Given the description of an element on the screen output the (x, y) to click on. 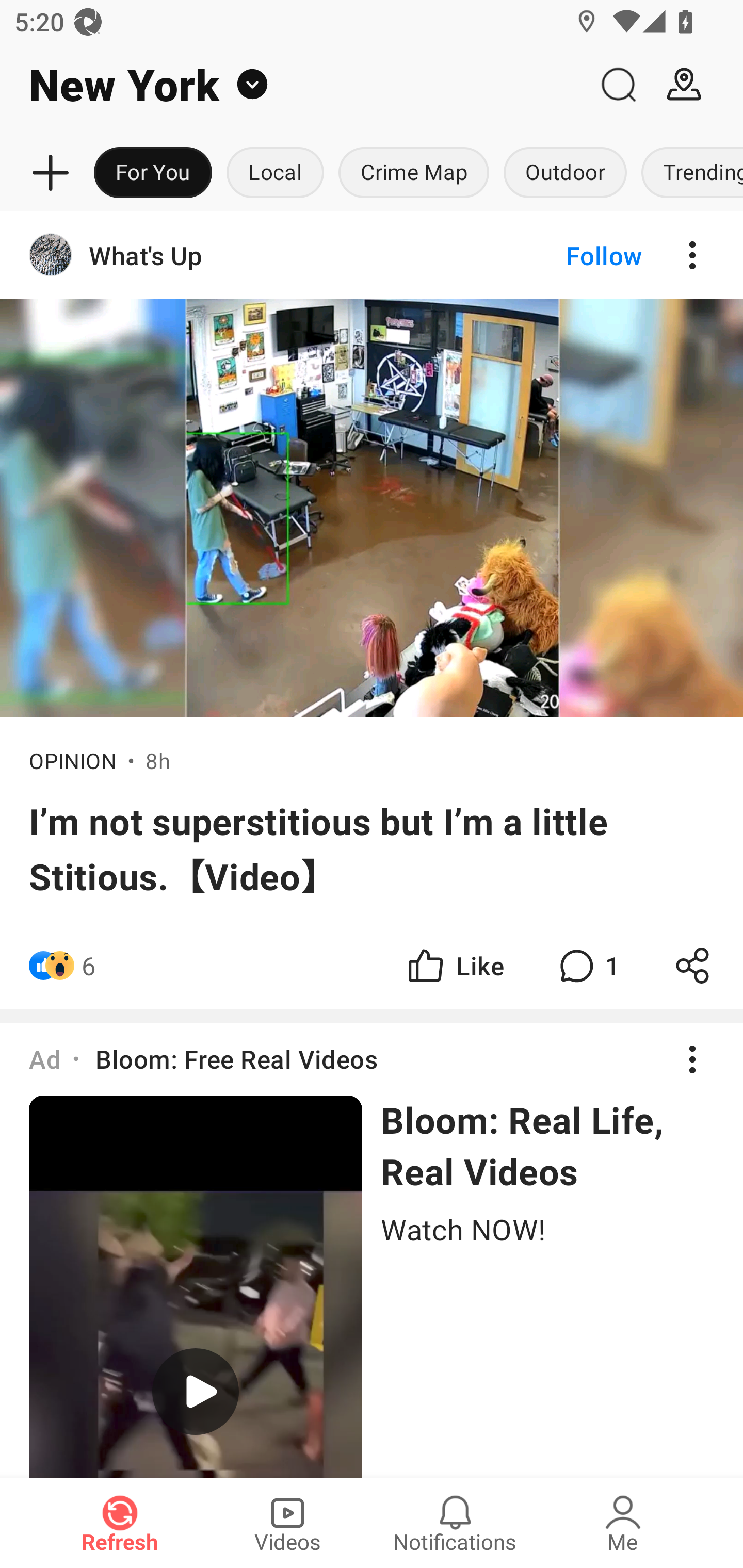
New York (292, 84)
For You (152, 172)
Local (275, 172)
Crime Map (413, 172)
Outdoor (564, 172)
Trending (688, 172)
What's Up Follow (371, 255)
Follow (569, 255)
6 (88, 964)
Like (454, 964)
1 (587, 964)
Bloom: Free Real Videos (236, 1058)
Bloom: Real Life, Real Videos (547, 1145)
Watch NOW! (547, 1228)
Videos (287, 1522)
Notifications (455, 1522)
Me (622, 1522)
